Given the description of an element on the screen output the (x, y) to click on. 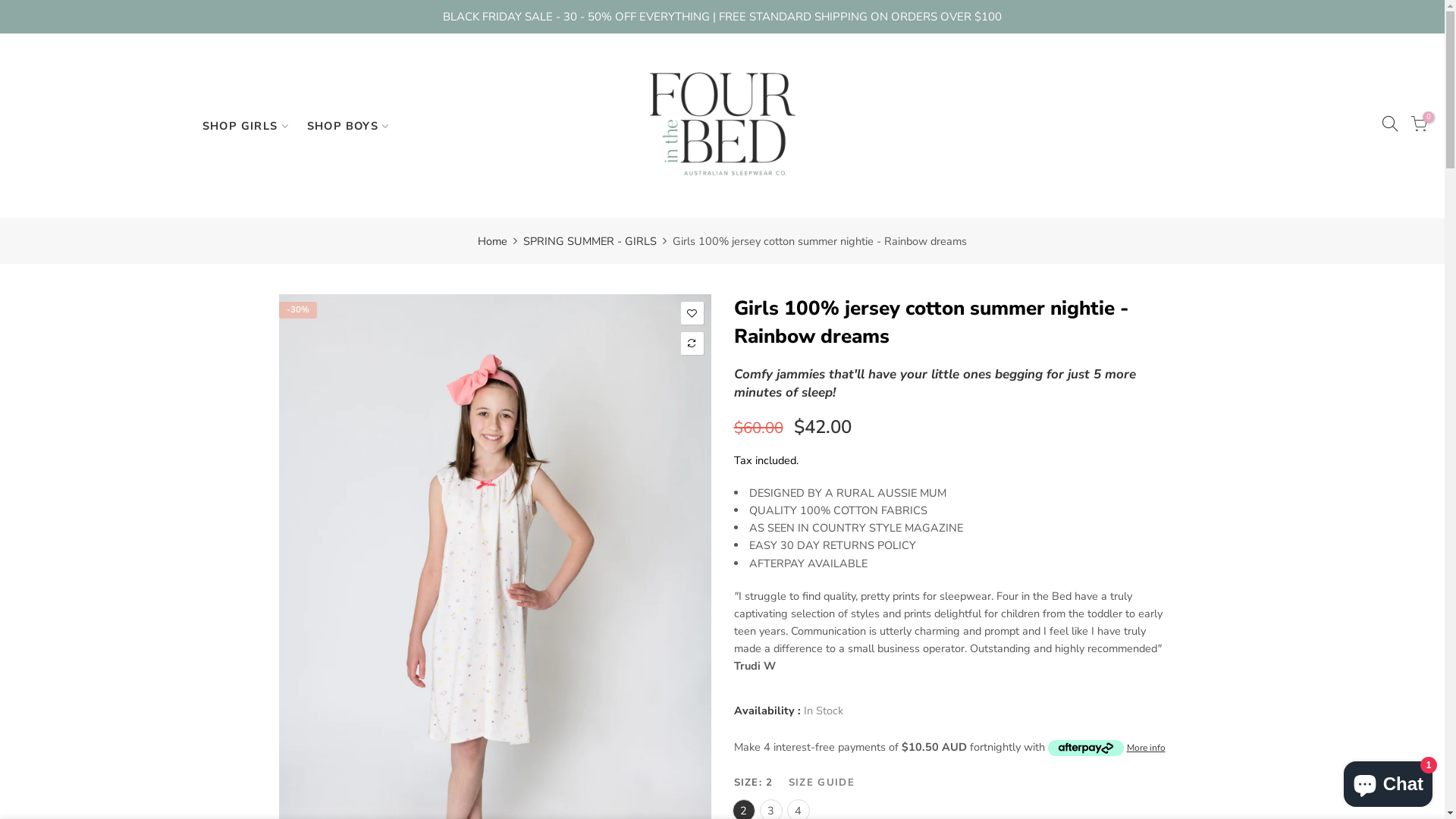
SHOP BOYS Element type: text (353, 125)
More info Element type: text (1145, 746)
0 Element type: text (1418, 125)
Shopify online store chat Element type: hover (1388, 780)
SHOP GIRLS Element type: text (250, 125)
SIZE GUIDE Element type: text (821, 782)
Home Element type: text (492, 240)
SPRING SUMMER - GIRLS Element type: text (589, 240)
